Given the description of an element on the screen output the (x, y) to click on. 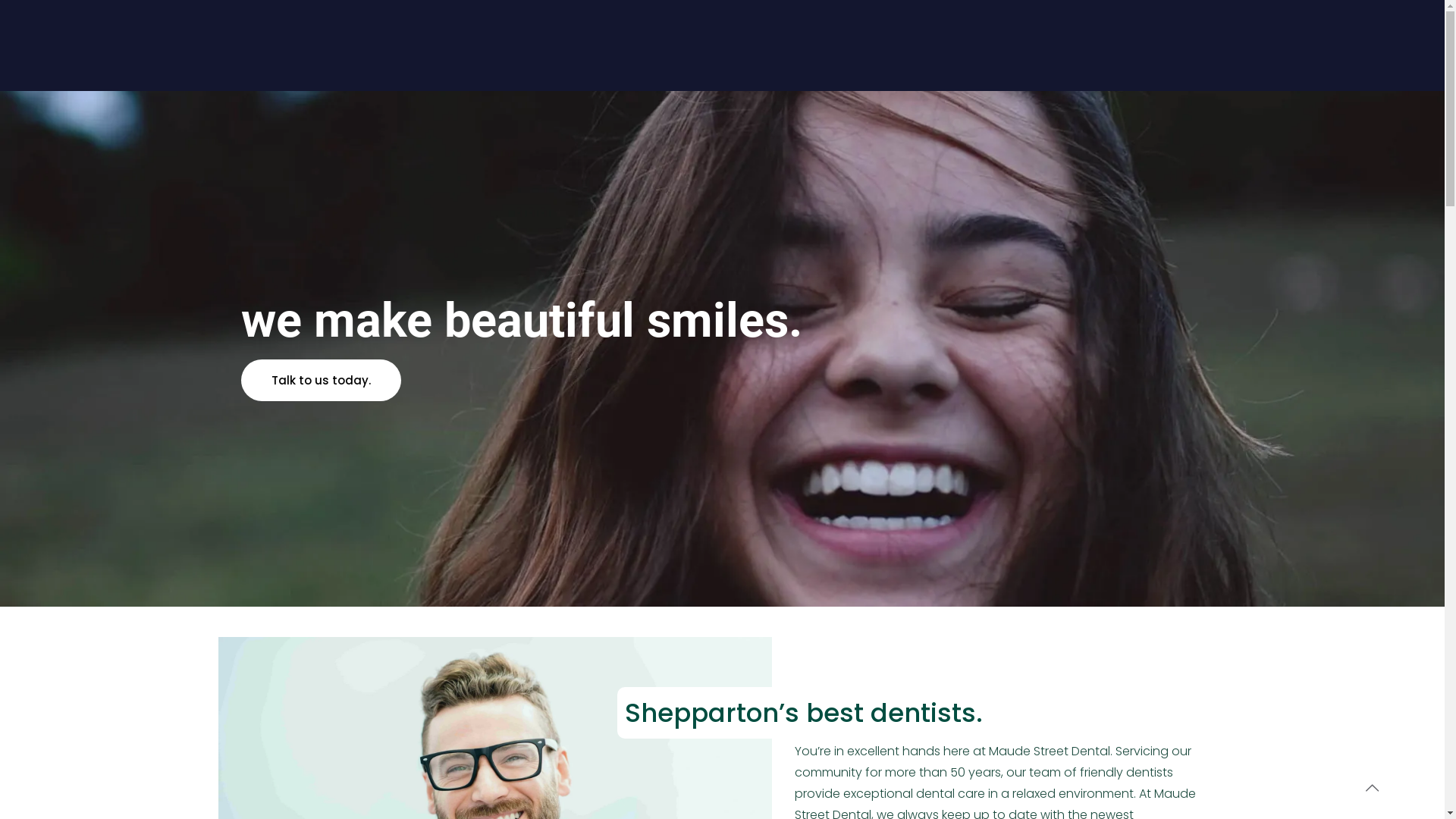
Talk to us today. Element type: text (321, 380)
